Given the description of an element on the screen output the (x, y) to click on. 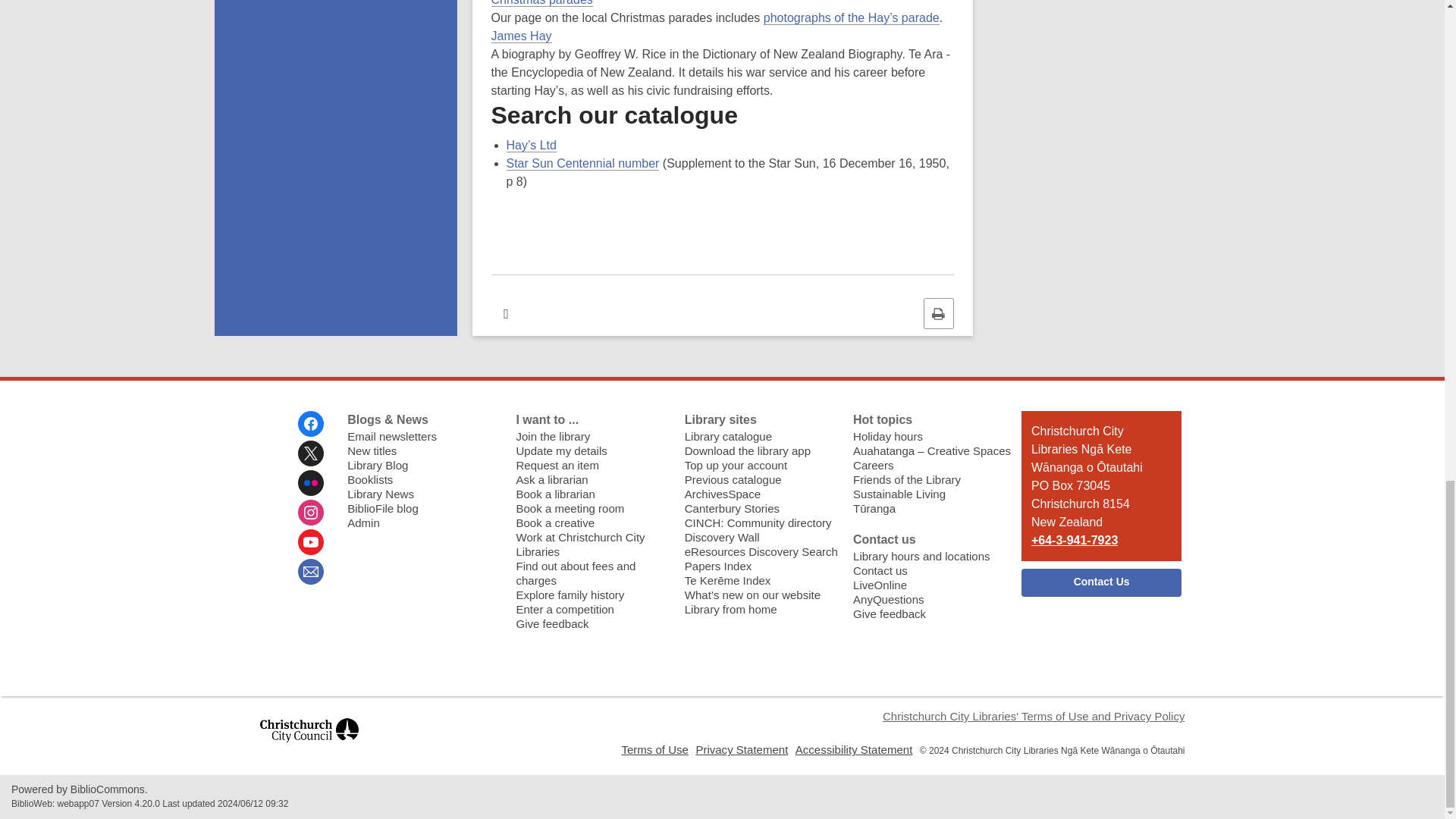
All our locations and hours (921, 555)
